Given the description of an element on the screen output the (x, y) to click on. 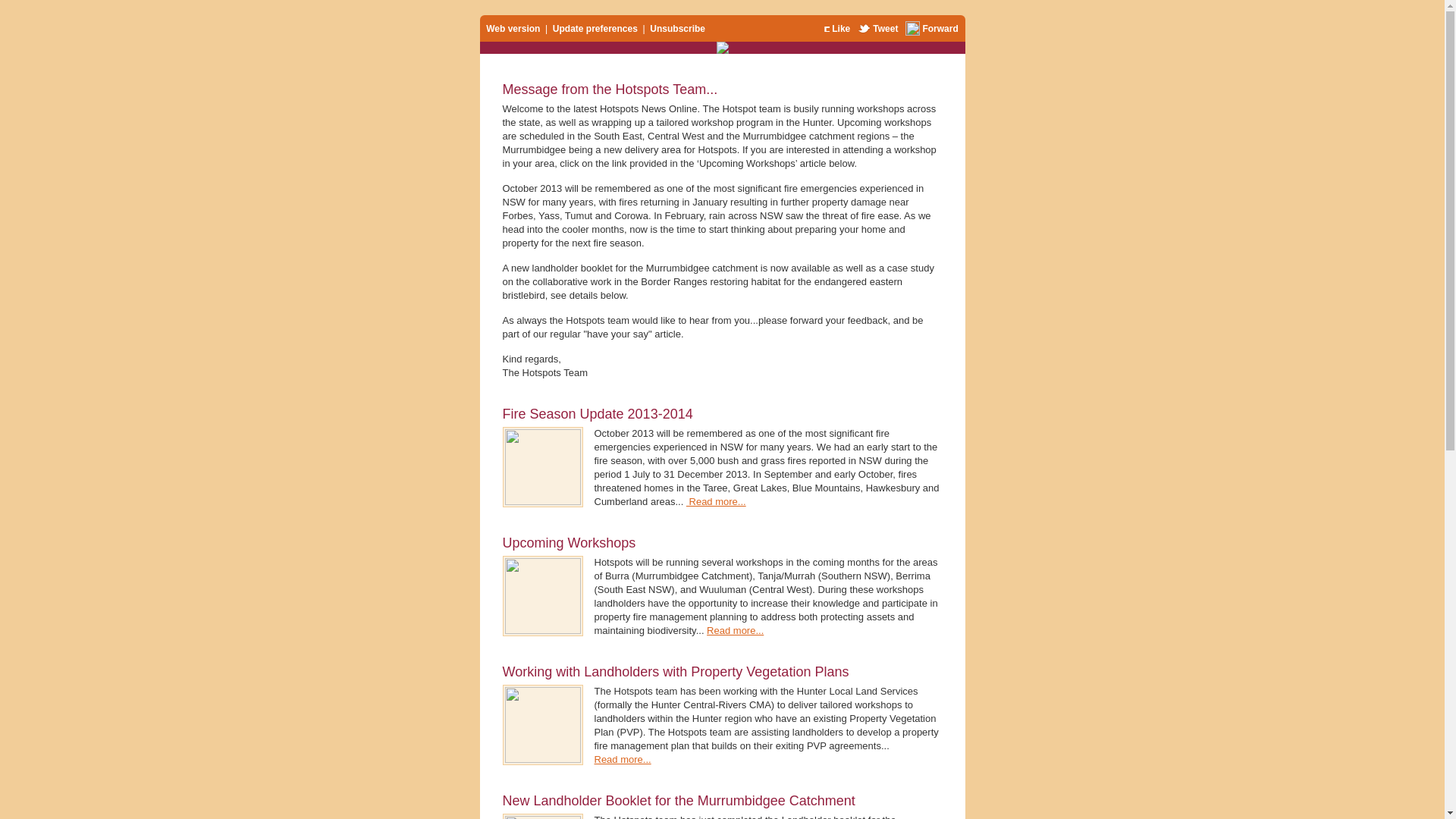
Web version Element type: text (512, 27)
Forward Element type: text (939, 27)
Read more... Element type: text (622, 759)
Working with Landholders with Property Vegetation Plans Element type: text (675, 671)
Upcoming Workshops Element type: text (568, 542)
New Landholder Booklet for the Murrumbidgee Catchment Element type: text (678, 800)
Tweet Element type: text (884, 27)
Unsubscribe Element type: text (677, 27)
Read more... Element type: text (716, 501)
Like Element type: text (840, 27)
Fire Season Update 2013-2014 Element type: text (597, 413)
Update preferences Element type: text (594, 27)
Read more... Element type: text (734, 630)
